Given the description of an element on the screen output the (x, y) to click on. 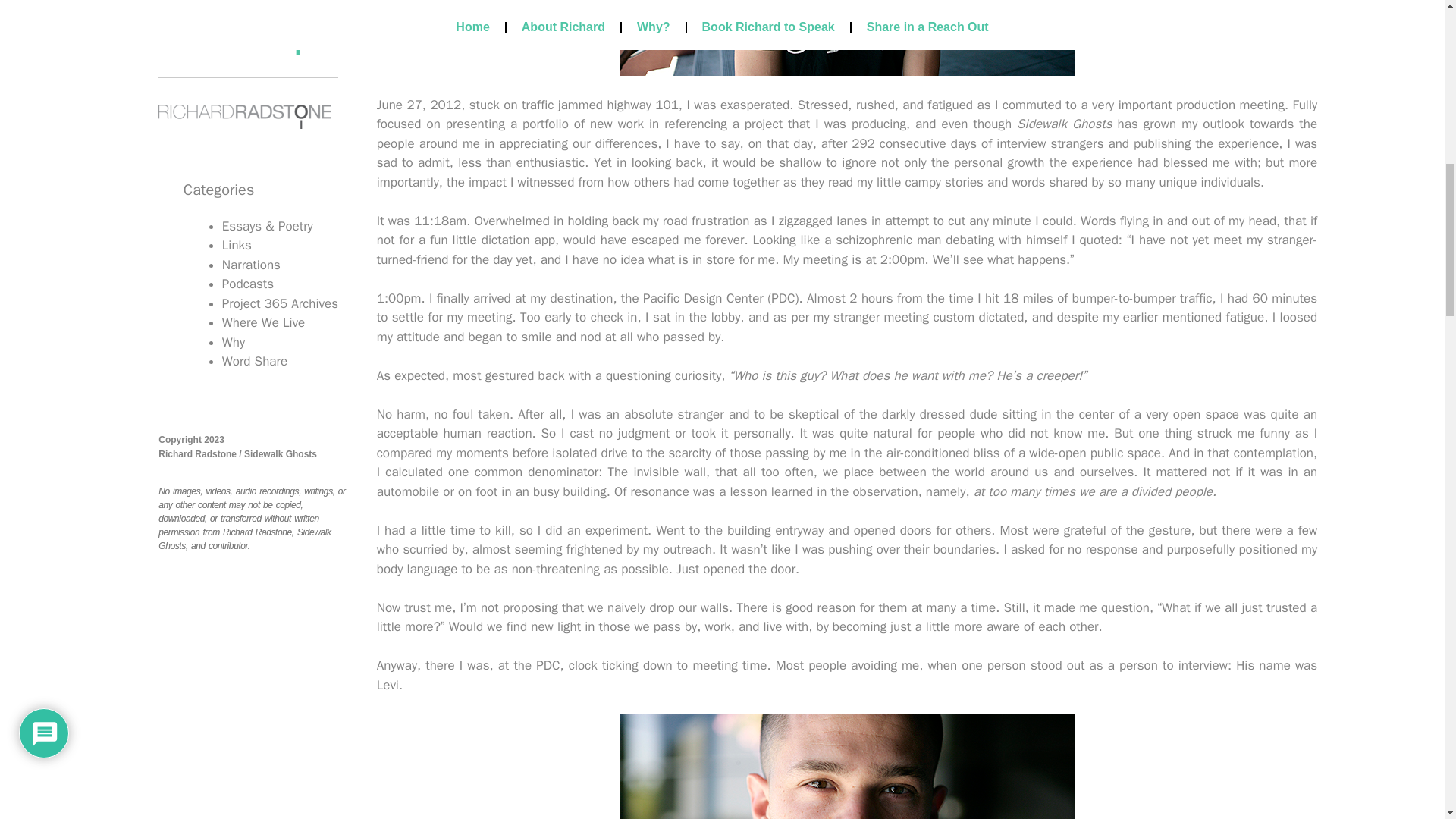
Podcasts (247, 283)
Word Share (254, 360)
SWG-4ec5a5-250-pixel.png (244, 42)
Why (233, 342)
Where We Live (263, 322)
Links (236, 245)
Project 365 Archives (279, 303)
RicahrdRadstoneGray (244, 116)
Narrations (251, 264)
